Given the description of an element on the screen output the (x, y) to click on. 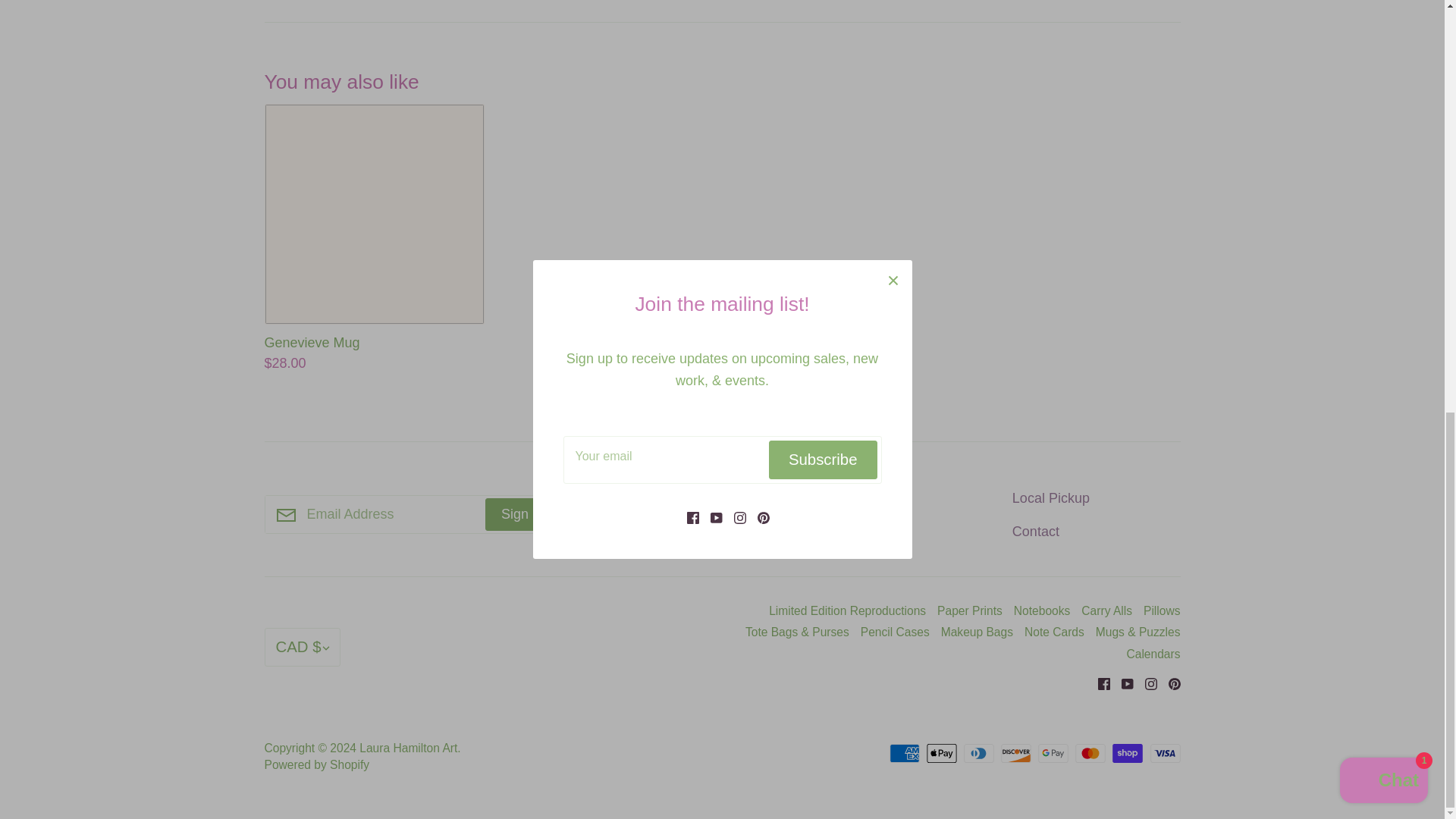
American Express (904, 752)
Discover (1015, 752)
Mastercard (1090, 752)
Apple Pay (941, 752)
Diners Club (978, 752)
Google Pay (1053, 752)
